Given the description of an element on the screen output the (x, y) to click on. 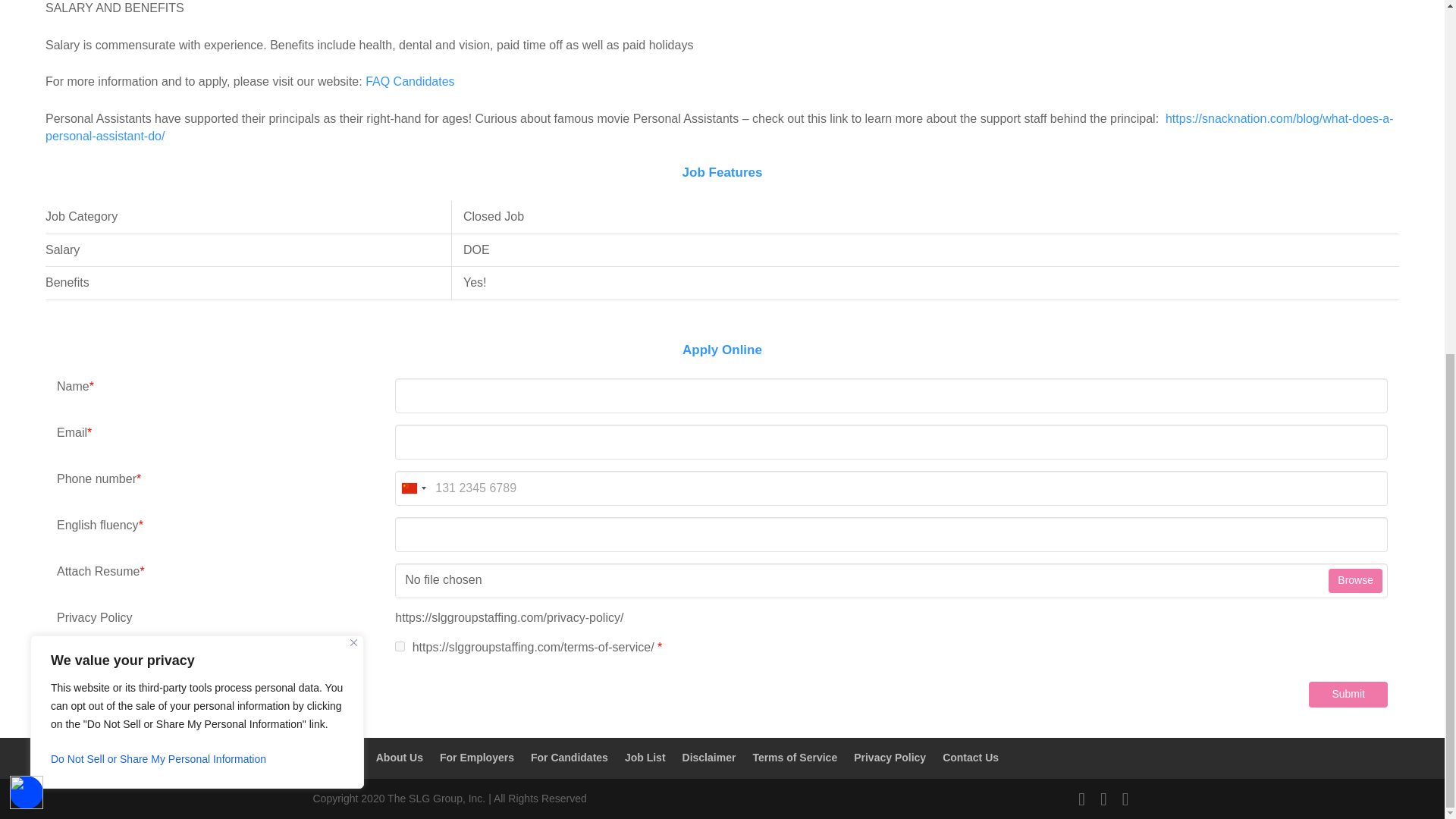
FAQ Candidates (409, 81)
For Employers (476, 757)
Accessibility Menu (26, 174)
For Candidates (569, 757)
Privacy Policy (889, 757)
Submit (1347, 694)
About Us (399, 757)
Job List (644, 757)
Welcome (335, 757)
Do Not Sell or Share My Personal Information (196, 140)
Contact Us (970, 757)
Disclaimer (709, 757)
Terms of Service (794, 757)
